Given the description of an element on the screen output the (x, y) to click on. 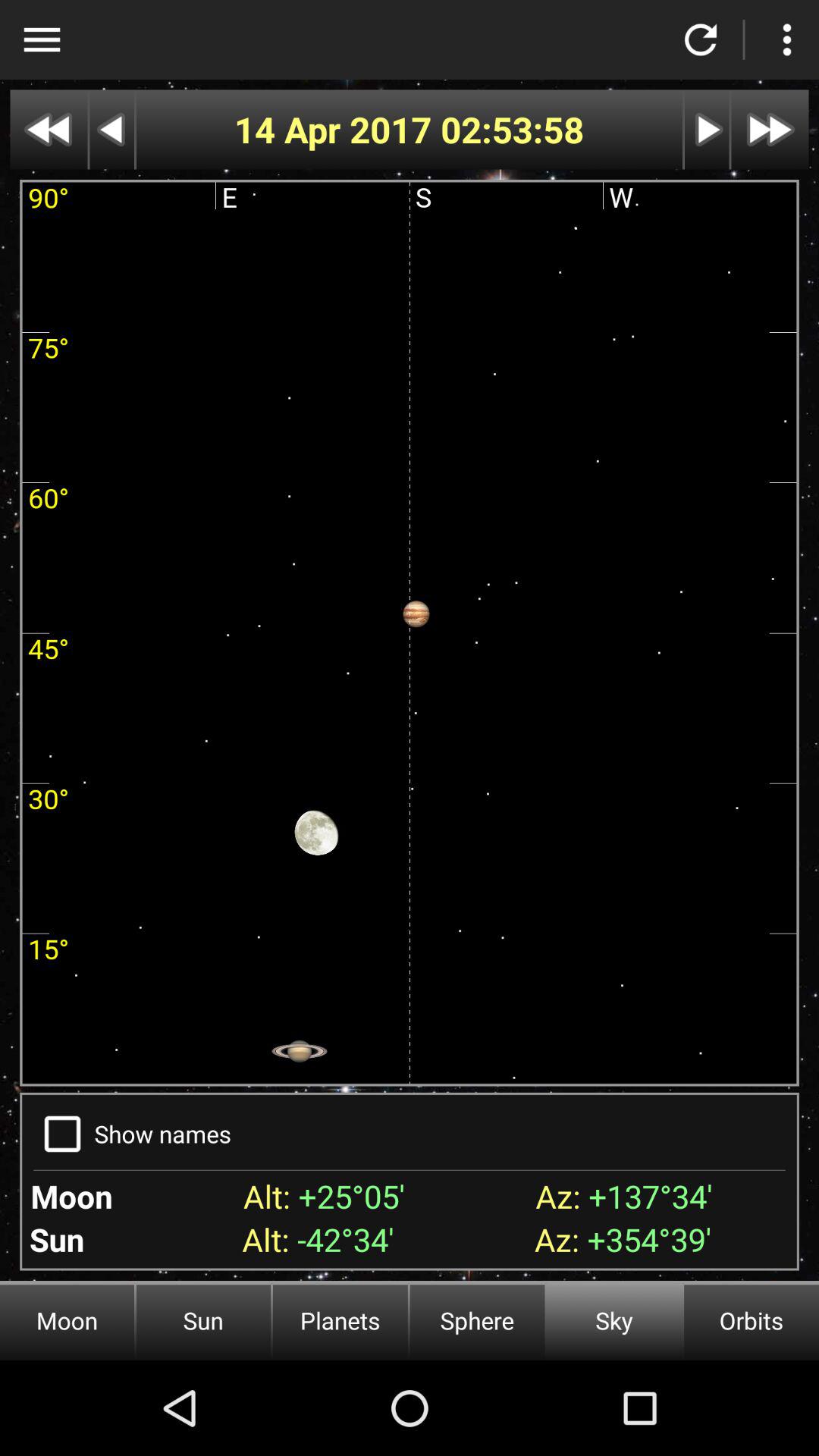
next button (706, 129)
